Given the description of an element on the screen output the (x, y) to click on. 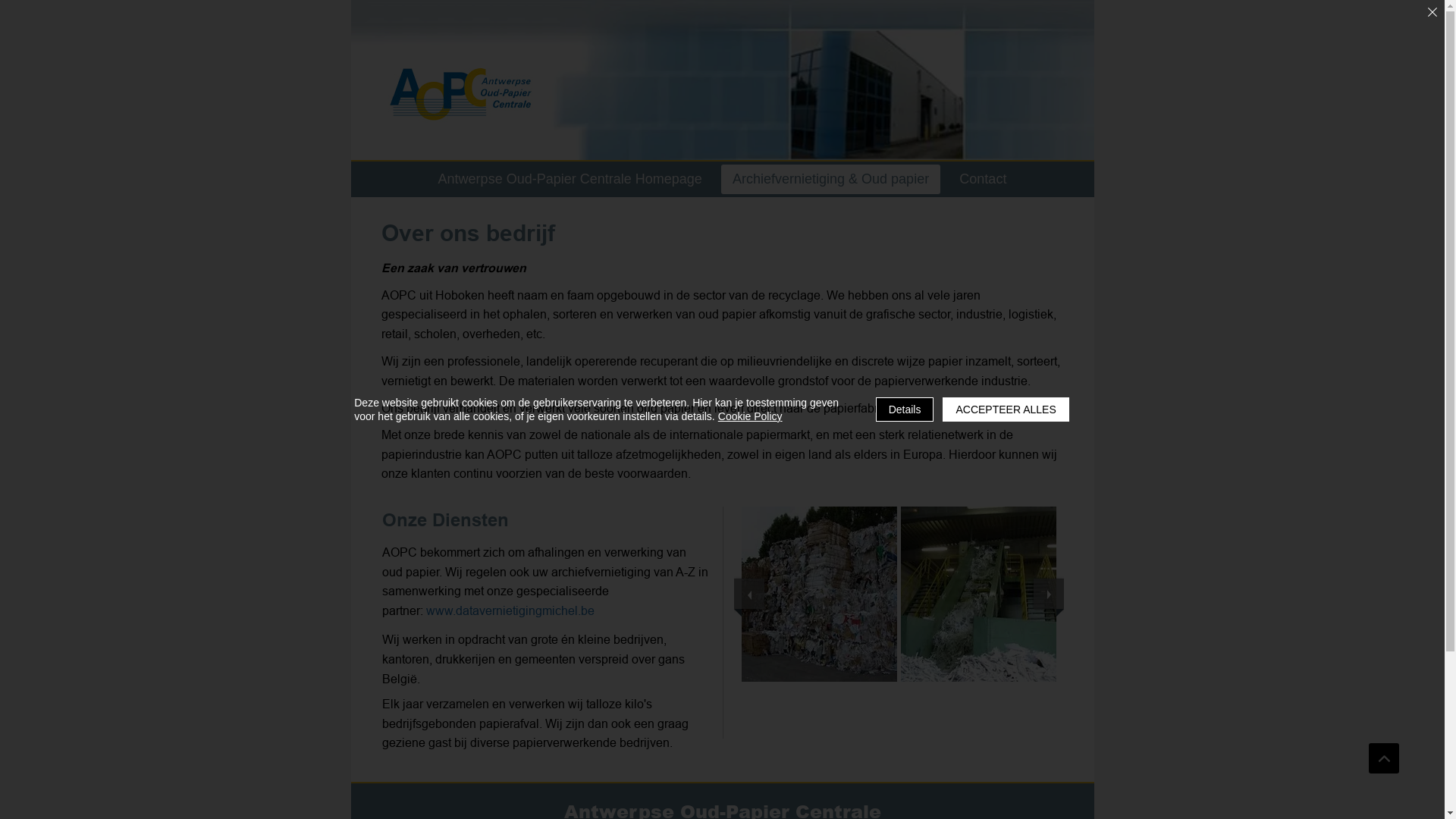
www.datavernietigingmichel.be Element type: text (510, 610)
Details Element type: text (904, 409)
 Antwerpse Oud-Papier Centrale  Element type: hover (460, 94)
ACCEPTEER ALLES Element type: text (1005, 409)
Antwerpse Oud-Papier Centrale Homepage Element type: text (569, 179)
Archiefvernietiging & Oud papier Element type: text (830, 179)
Contact Element type: text (982, 179)
Cookie Policy Element type: text (750, 416)
